Given the description of an element on the screen output the (x, y) to click on. 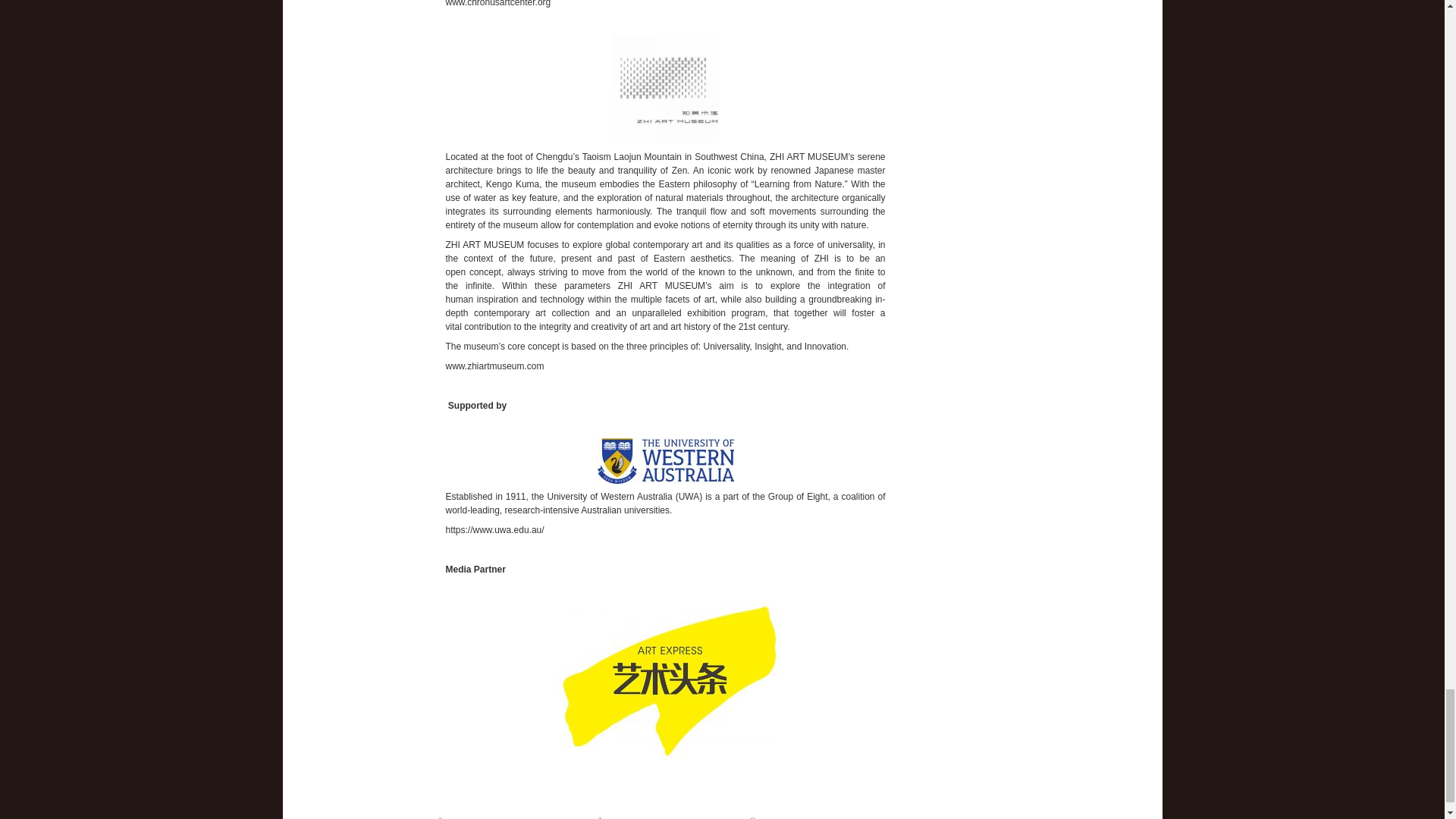
BACK TO TOP (349, 811)
